Given the description of an element on the screen output the (x, y) to click on. 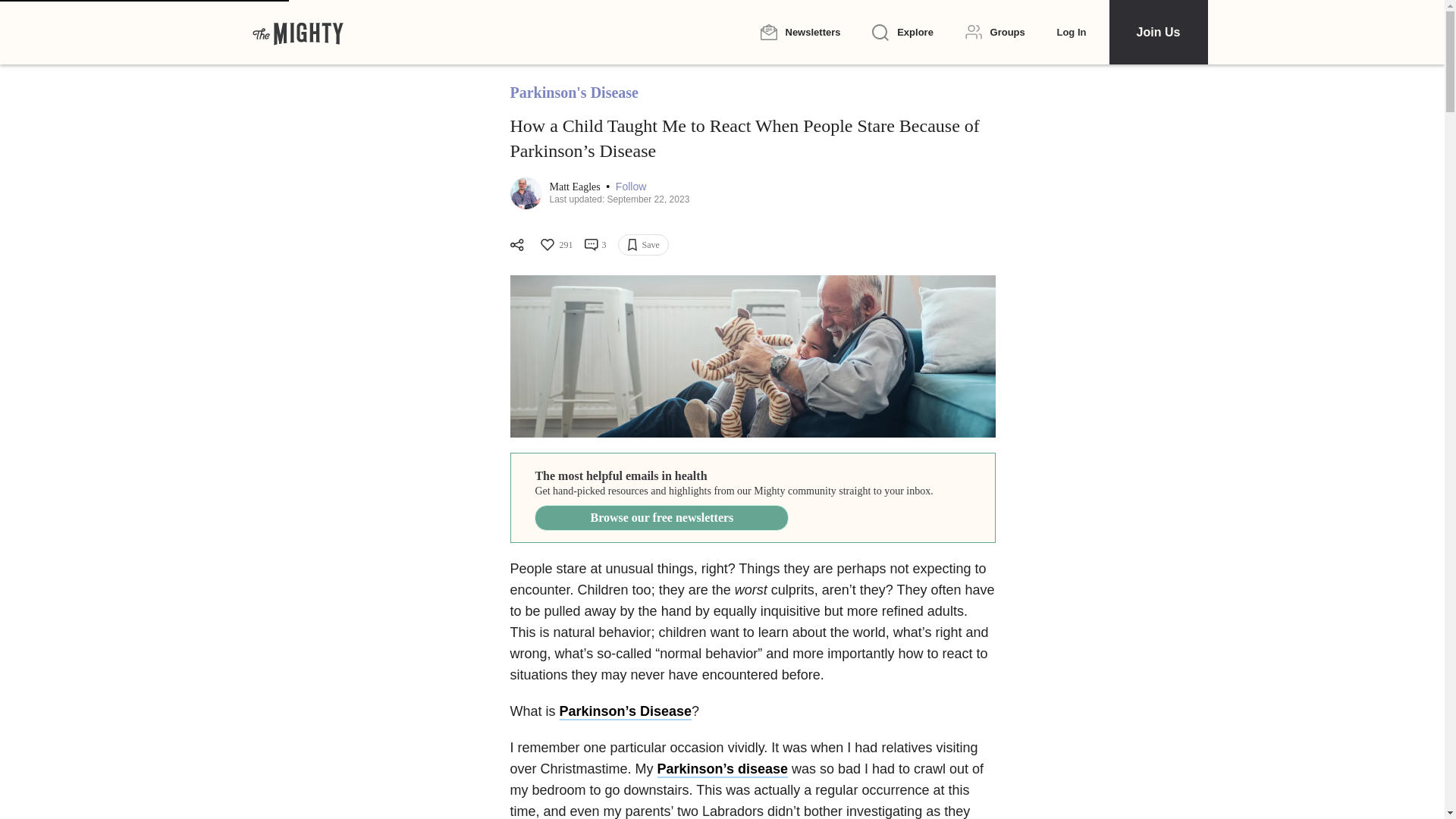
Parkinson's Disease (573, 92)
Save (642, 244)
Follow (630, 186)
291 (555, 244)
Join Us (1157, 32)
3 (594, 244)
Newsletters (800, 31)
Explore (902, 32)
Matt Eagles (575, 186)
